Given the description of an element on the screen output the (x, y) to click on. 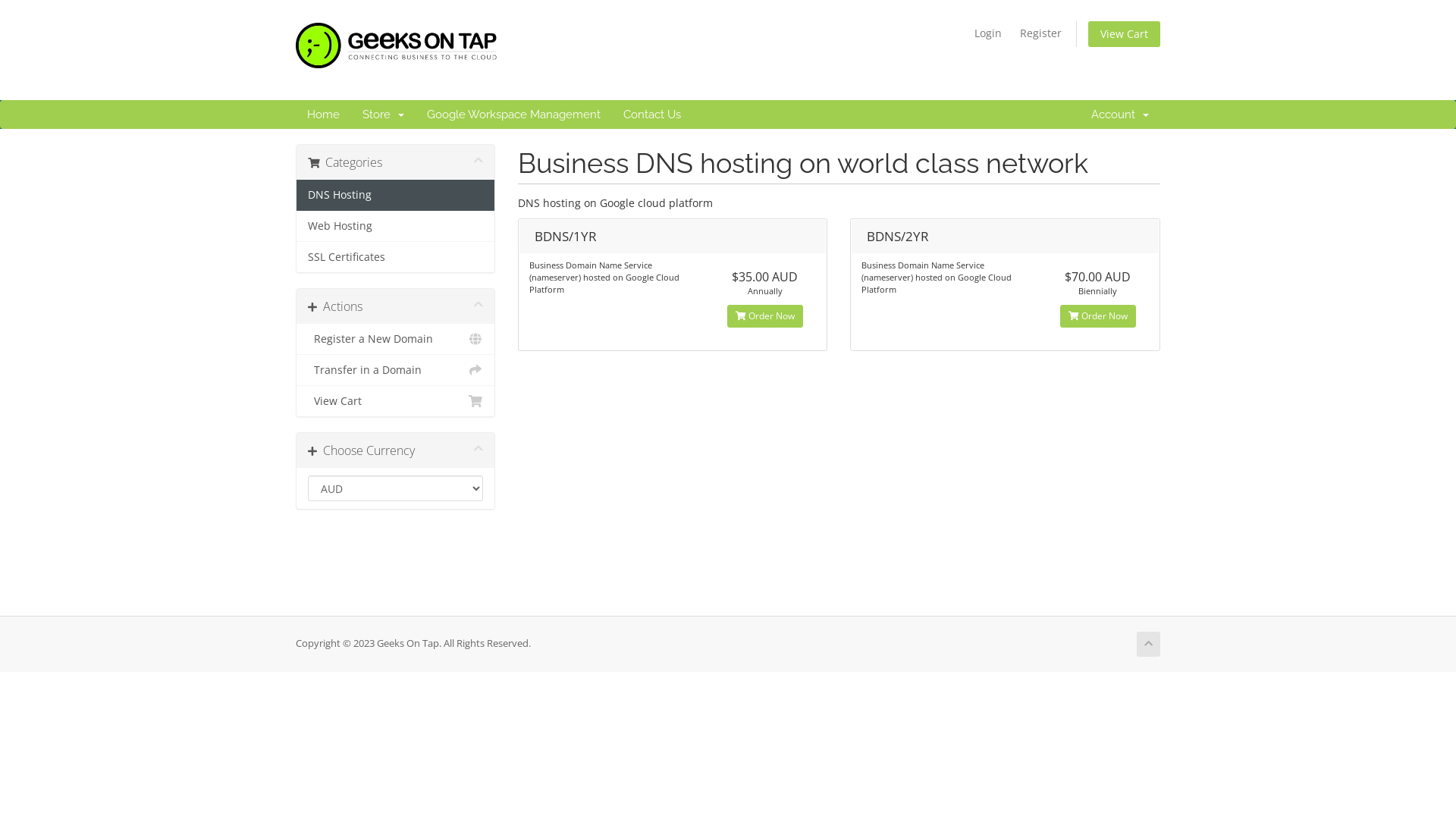
  Transfer in a Domain Element type: text (395, 369)
View Cart Element type: text (1124, 34)
Login Element type: text (987, 33)
  Register a New Domain Element type: text (395, 338)
Account   Element type: text (1119, 114)
Register Element type: text (1040, 33)
  View Cart Element type: text (395, 400)
Home Element type: text (323, 114)
Order Now Element type: text (1097, 315)
SSL Certificates Element type: text (395, 256)
Order Now Element type: text (765, 315)
DNS Hosting Element type: text (395, 194)
Contact Us Element type: text (651, 114)
Google Workspace Management Element type: text (513, 114)
Web Hosting Element type: text (395, 225)
Store   Element type: text (383, 114)
